Given the description of an element on the screen output the (x, y) to click on. 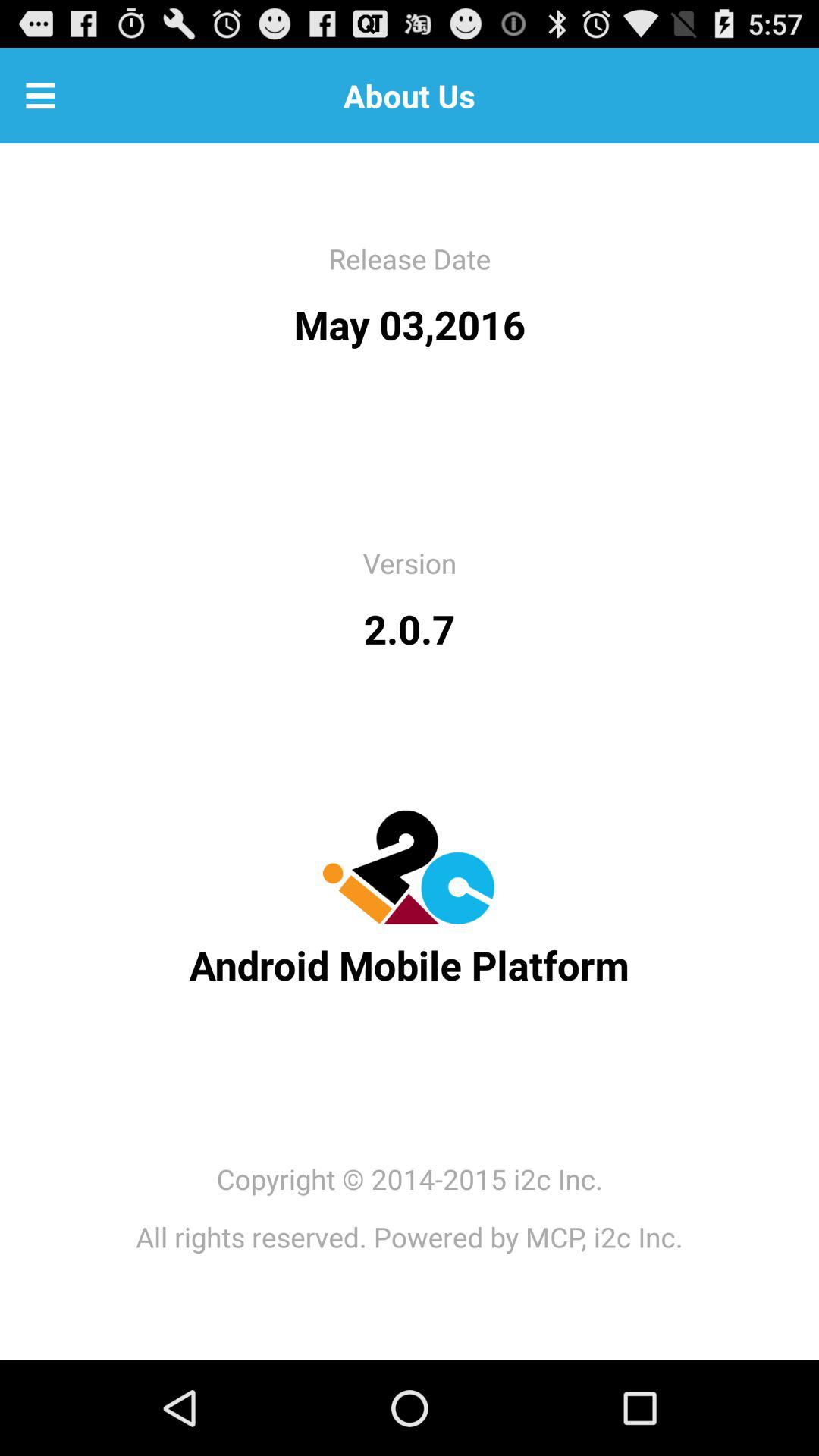
turn off the icon next to the about us item (39, 95)
